Given the description of an element on the screen output the (x, y) to click on. 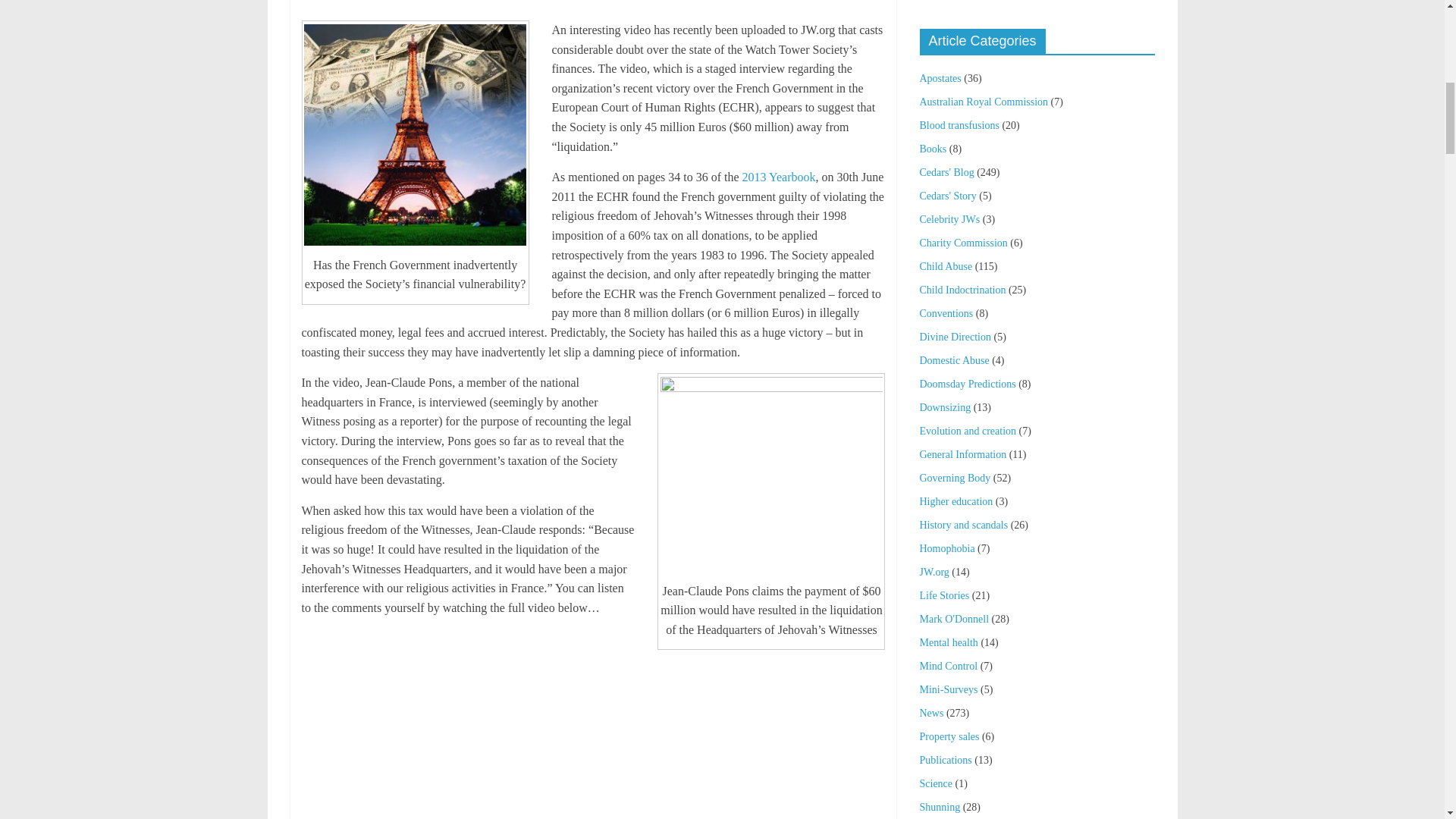
2013 Yearbook of Jehovah's Witnesses (778, 176)
jean-claude-pons (771, 473)
french-tax-jehovah (414, 134)
